Given the description of an element on the screen output the (x, y) to click on. 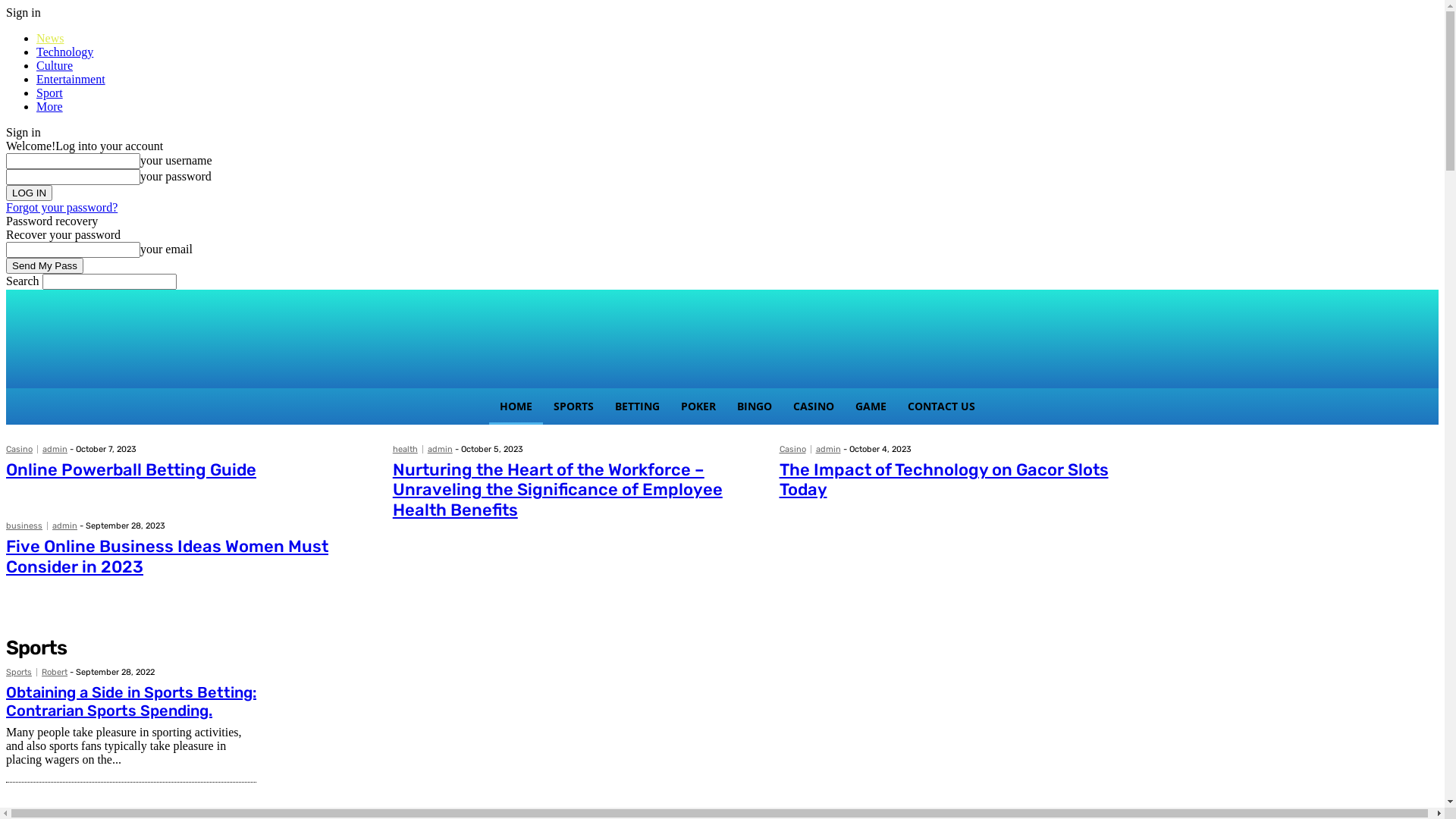
News Element type: text (49, 37)
admin Element type: text (827, 449)
GAME Element type: text (870, 406)
POKER Element type: text (698, 406)
HOME Element type: text (515, 406)
health Element type: text (407, 449)
Sign in Element type: text (23, 12)
admin Element type: text (64, 525)
BINGO Element type: text (754, 406)
Sport Element type: text (49, 92)
business Element type: text (26, 525)
CONTACT US Element type: text (941, 406)
Casino Element type: text (795, 449)
Entertainment Element type: text (70, 78)
Forgot your password? Element type: text (61, 206)
Technology Element type: text (64, 51)
CASINO Element type: text (813, 406)
The Impact of Technology on Gacor Slots Today Element type: text (943, 479)
More Element type: text (49, 106)
Robert Element type: text (54, 672)
admin Element type: text (439, 449)
BETTING Element type: text (637, 406)
1st Online Casino Element type: text (722, 335)
Culture Element type: text (54, 65)
Five Online Business Ideas Women Must Consider in 2023 Element type: text (167, 556)
Online Powerball Betting Guide Element type: text (131, 469)
Casino Element type: text (21, 449)
Sports Element type: text (21, 672)
admin Element type: text (54, 449)
SPORTS Element type: text (573, 406)
